Given the description of an element on the screen output the (x, y) to click on. 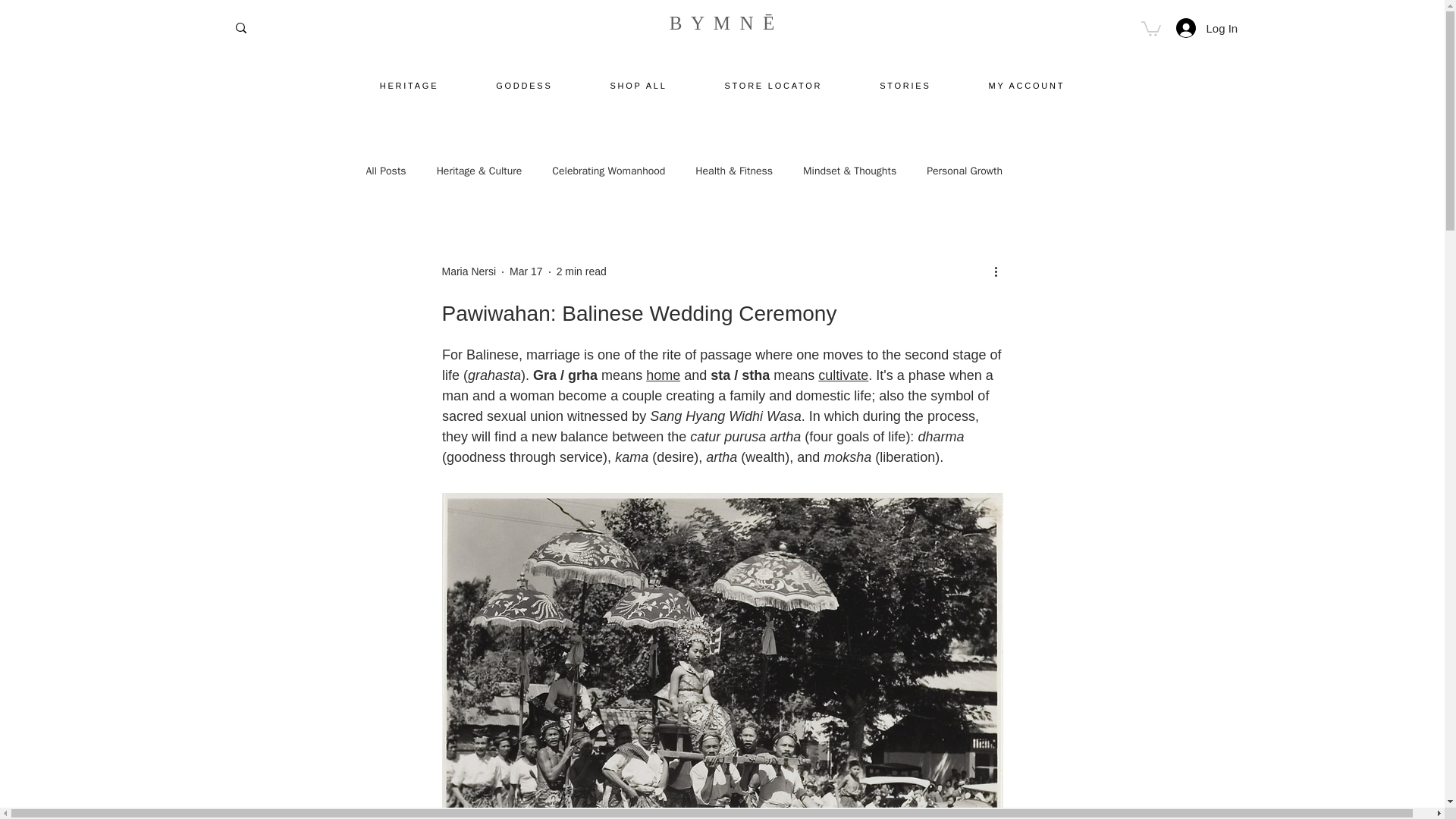
2 min read (581, 271)
STORE LOCATOR (773, 85)
All Posts (385, 171)
GODDESS (523, 85)
Log In (1195, 27)
Mar 17 (526, 271)
Maria Nersi (468, 271)
Celebrating Womanhood (608, 171)
MY ACCOUNT (1027, 85)
HERITAGE (408, 85)
SHOP ALL (638, 85)
STORIES (904, 85)
